Given the description of an element on the screen output the (x, y) to click on. 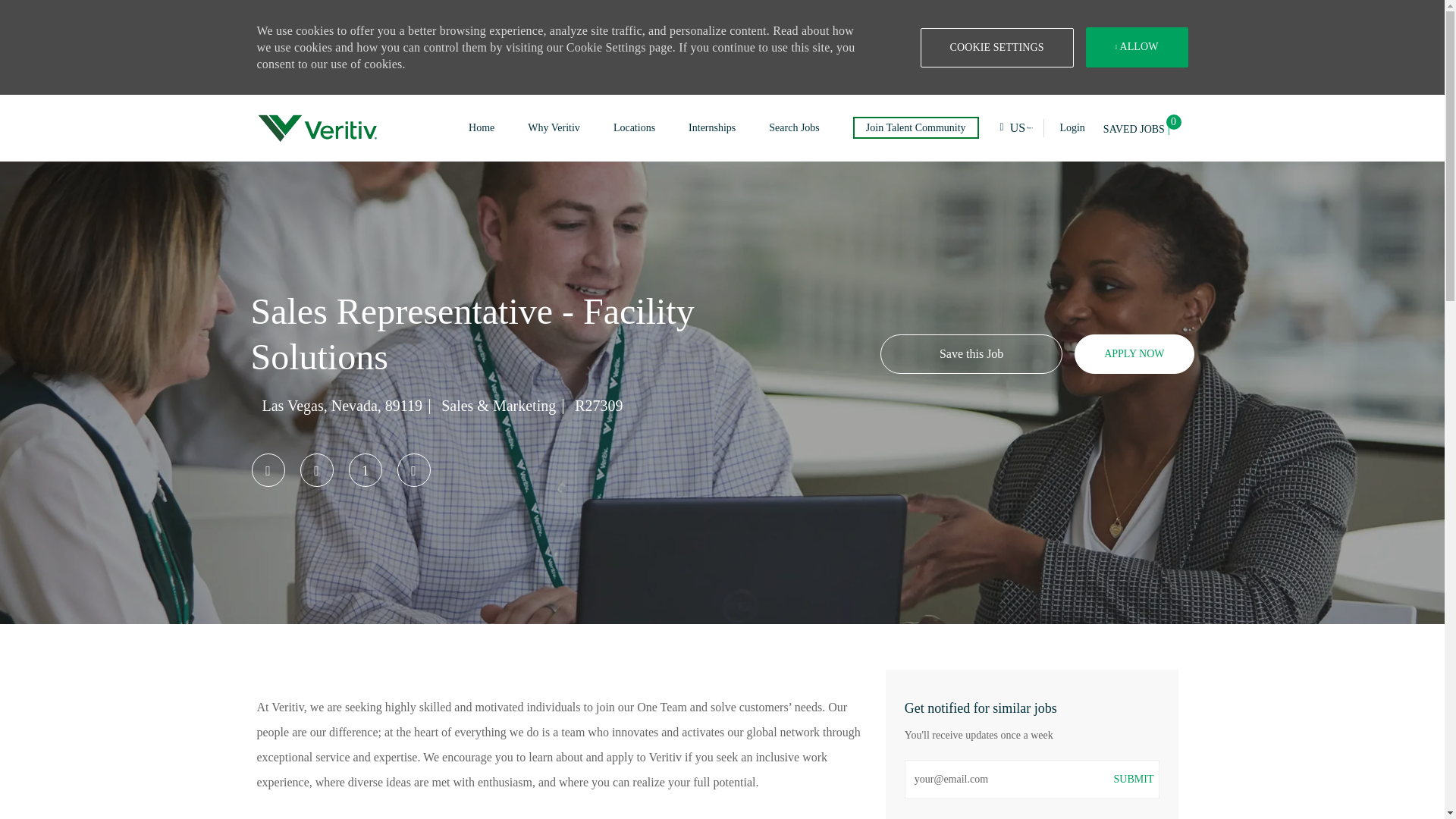
SAVED JOBS 0 (1145, 127)
Search Jobs (793, 127)
COOKIE SETTINGS (997, 47)
Internships (711, 127)
SUBMIT (1134, 779)
Join Talent Community (915, 127)
ALLOW (1137, 47)
Locations (633, 127)
APPLY NOW (1133, 353)
Home (481, 127)
Apply Now (1133, 353)
Login (1063, 127)
Why Veritiv (553, 127)
